Given the description of an element on the screen output the (x, y) to click on. 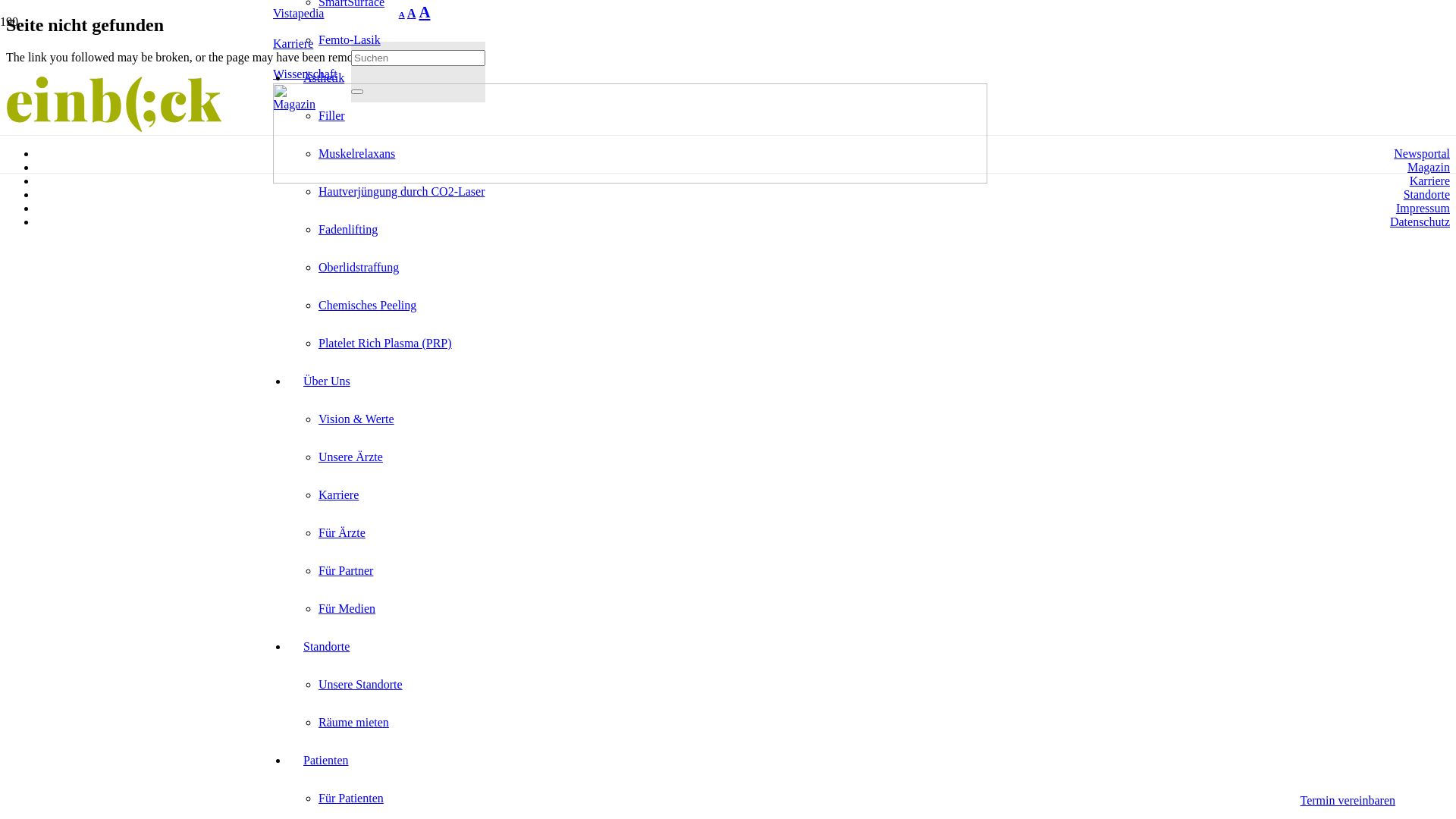
Femto-Lasik Element type: text (349, 39)
Muskelrelaxans Element type: text (356, 153)
Karriere Element type: text (338, 494)
Unsere Standorte Element type: text (360, 683)
Platelet Rich Plasma (PRP) Element type: text (384, 342)
Standorte Element type: text (1426, 194)
Vision & Werte Element type: text (356, 418)
Newsportal Element type: text (1421, 153)
Fadenlifting Element type: text (347, 228)
Patienten Element type: text (326, 759)
A Element type: text (401, 13)
Magazin Element type: text (1428, 166)
Datenschutz Element type: text (1419, 221)
Karriere Element type: text (293, 43)
A Element type: text (411, 12)
Magazin Element type: text (294, 103)
Vistapedia Element type: text (298, 12)
Oberlidstraffung Element type: text (358, 266)
Karriere Element type: text (1429, 180)
Filler Element type: text (331, 115)
Termin vereinbaren Element type: text (1347, 800)
Standorte Element type: text (326, 646)
A Element type: text (423, 11)
Wissenschaft Element type: text (305, 73)
Chemisches Peeling Element type: text (367, 304)
Impressum Element type: text (1422, 207)
